Given the description of an element on the screen output the (x, y) to click on. 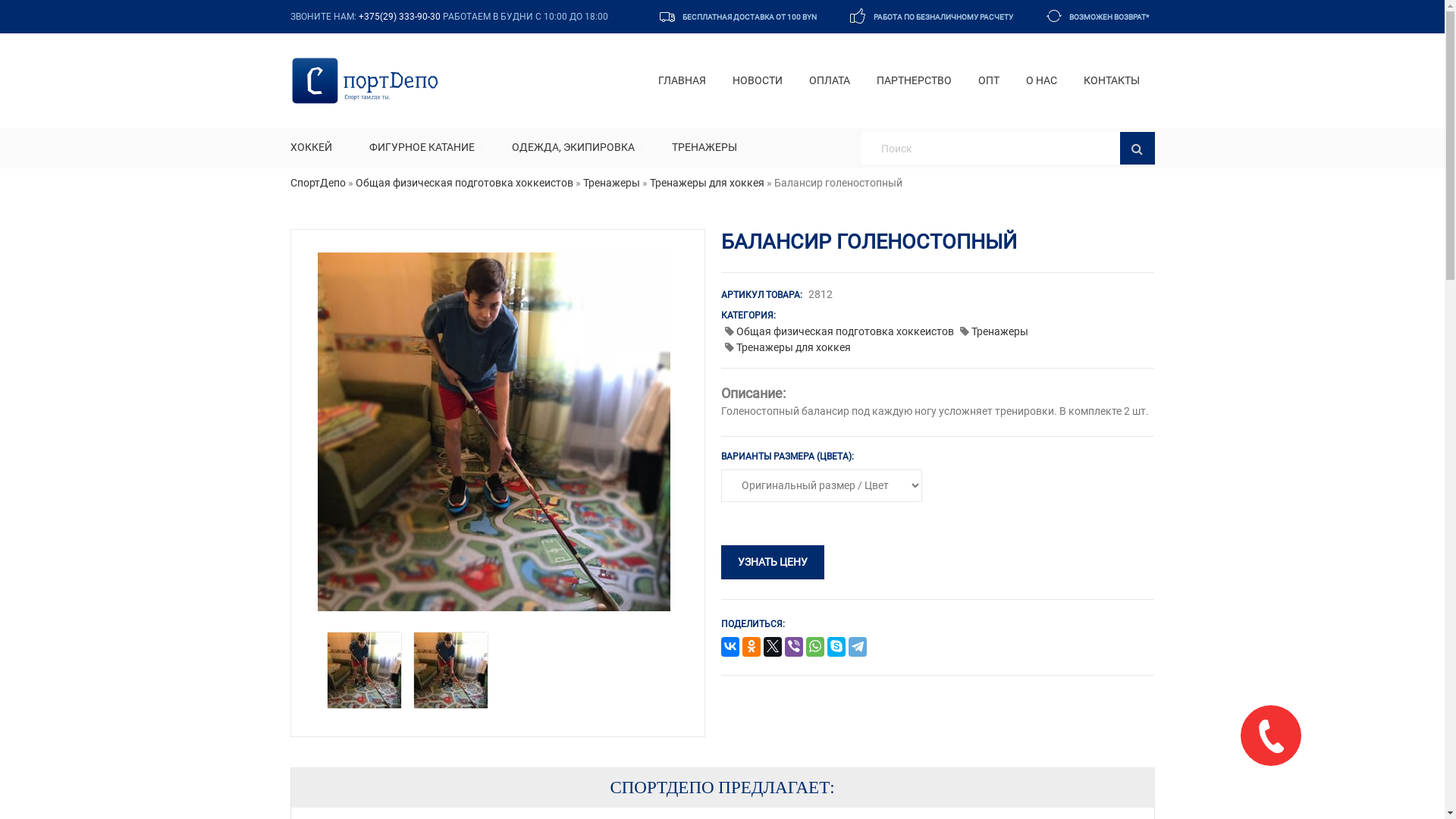
WhatsApp Element type: hover (815, 647)
+375(29) 333-90-30 Element type: text (398, 16)
Skype Element type: hover (836, 647)
Telegram Element type: hover (857, 647)
Viber Element type: hover (793, 647)
Twitter Element type: hover (772, 647)
